Given the description of an element on the screen output the (x, y) to click on. 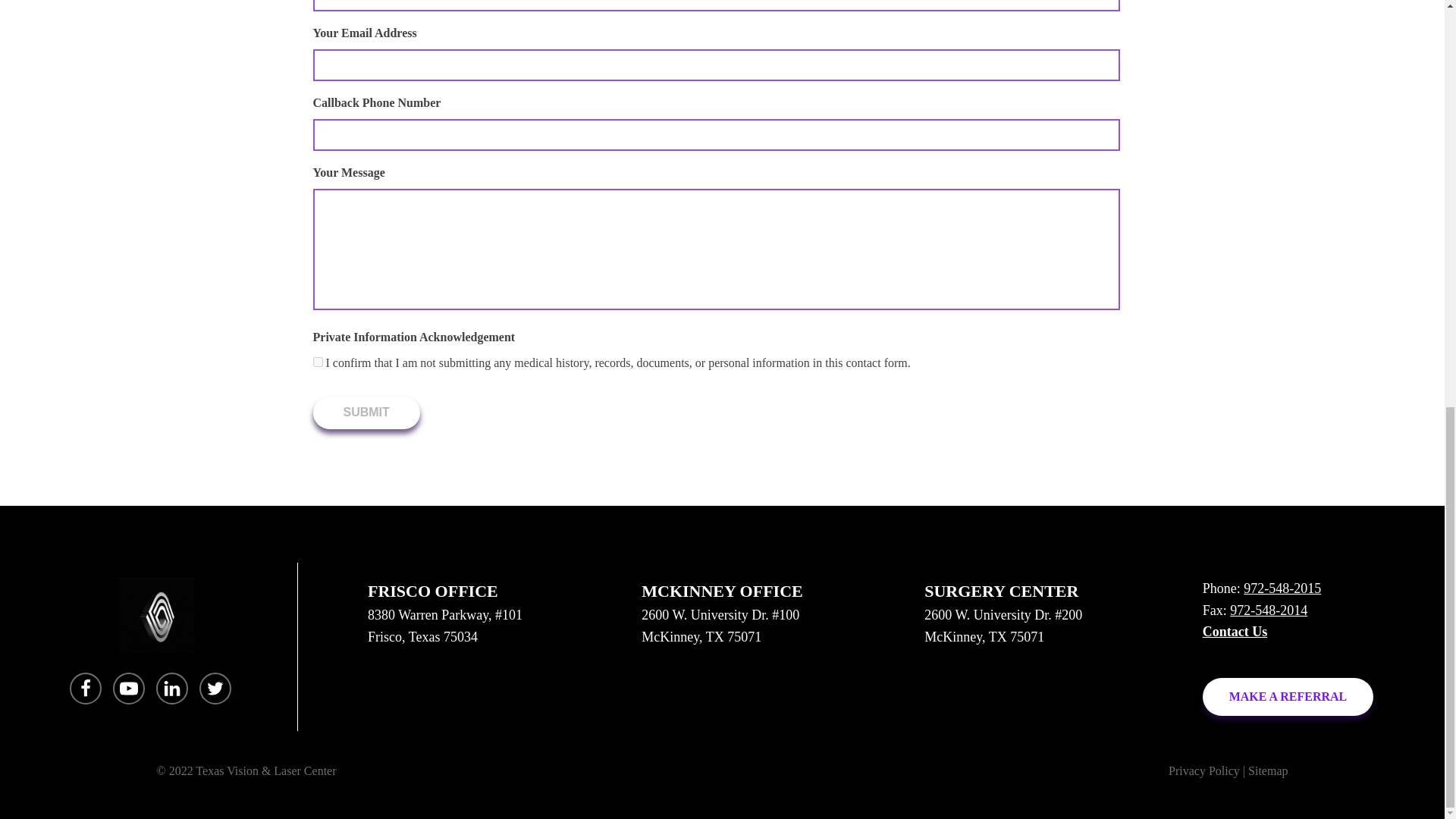
1 (317, 361)
Submit (366, 412)
